Given the description of an element on the screen output the (x, y) to click on. 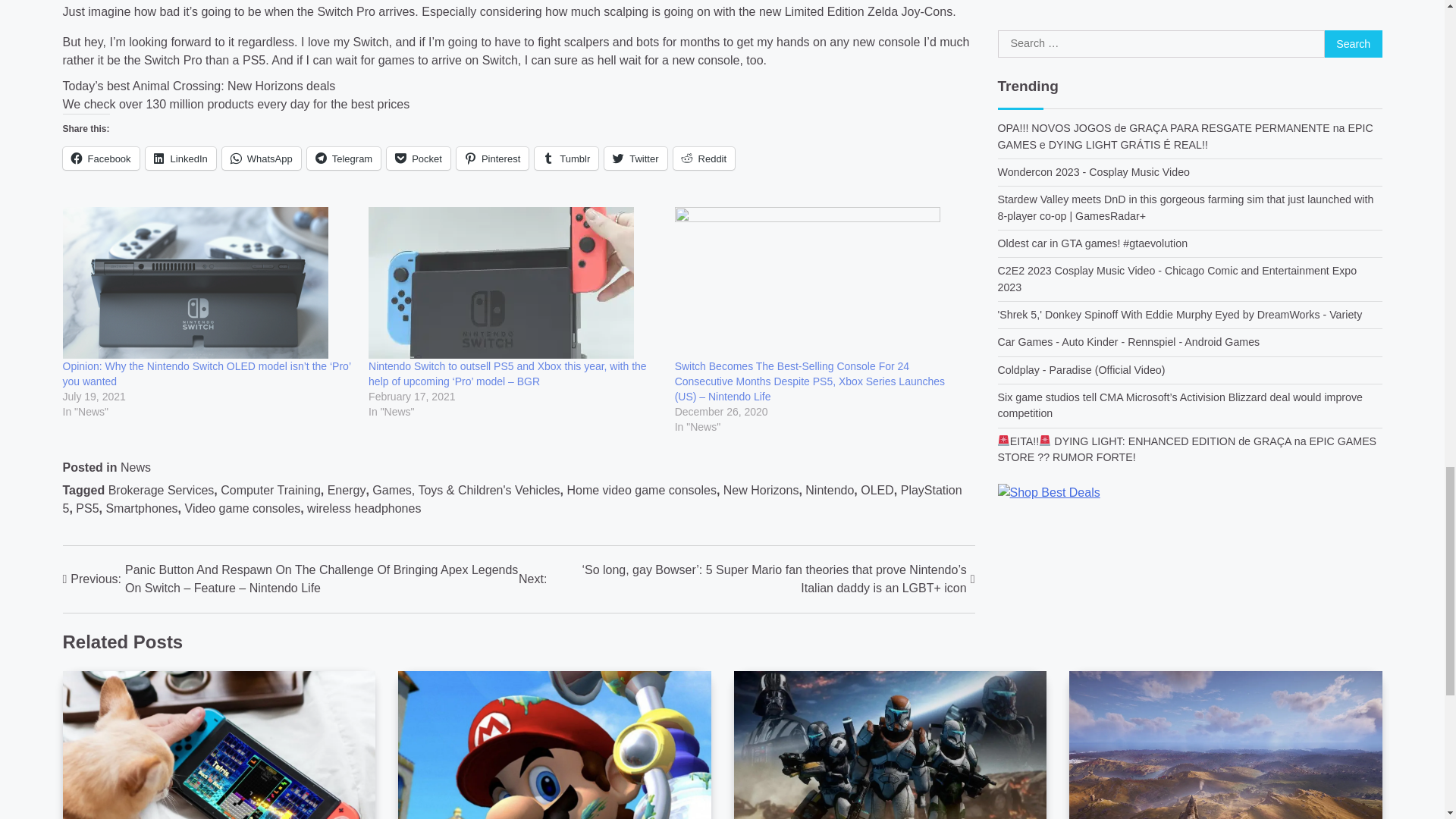
Pinterest (492, 158)
Click to share on Telegram (343, 158)
Twitter (635, 158)
Click to share on Twitter (635, 158)
Click to share on Reddit (703, 158)
Click to share on Pinterest (492, 158)
Click to share on Tumblr (566, 158)
Click to share on Pocket (418, 158)
WhatsApp (261, 158)
Telegram (343, 158)
Click to share on Facebook (100, 158)
Facebook (100, 158)
Pocket (418, 158)
LinkedIn (180, 158)
Tumblr (566, 158)
